Given the description of an element on the screen output the (x, y) to click on. 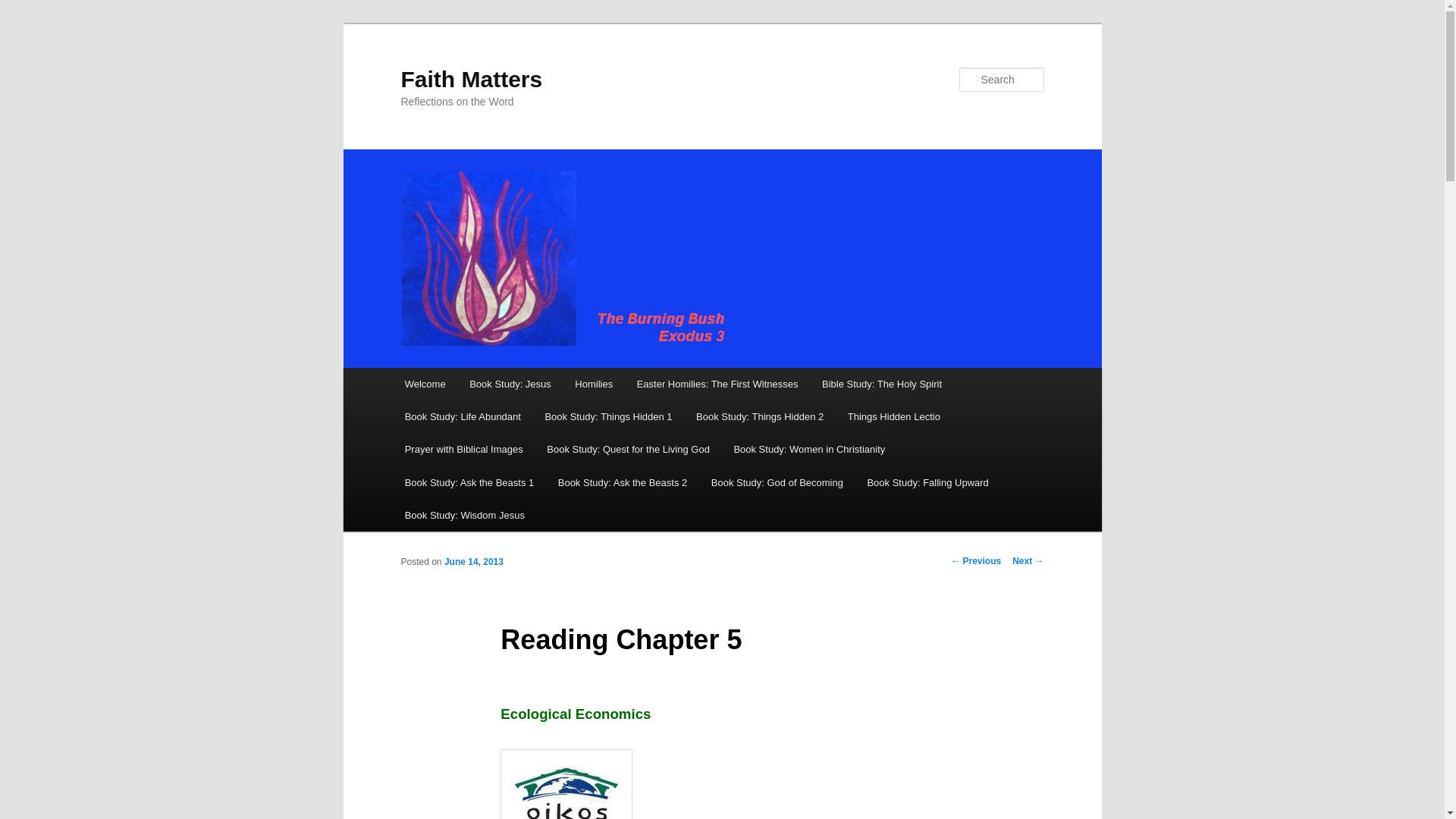
Faith Matters (470, 78)
Book Study: Wisdom Jesus (465, 514)
Book Study: Ask the Beasts 1 (469, 482)
Prayer with Biblical Images (464, 449)
Homilies (593, 383)
Book Study: Things Hidden 1 (608, 416)
Book Study: Jesus (509, 383)
Book Study: Falling Upward (928, 482)
Book Study: God of Becoming (777, 482)
Prayer with Biblical Images (464, 449)
